Given the description of an element on the screen output the (x, y) to click on. 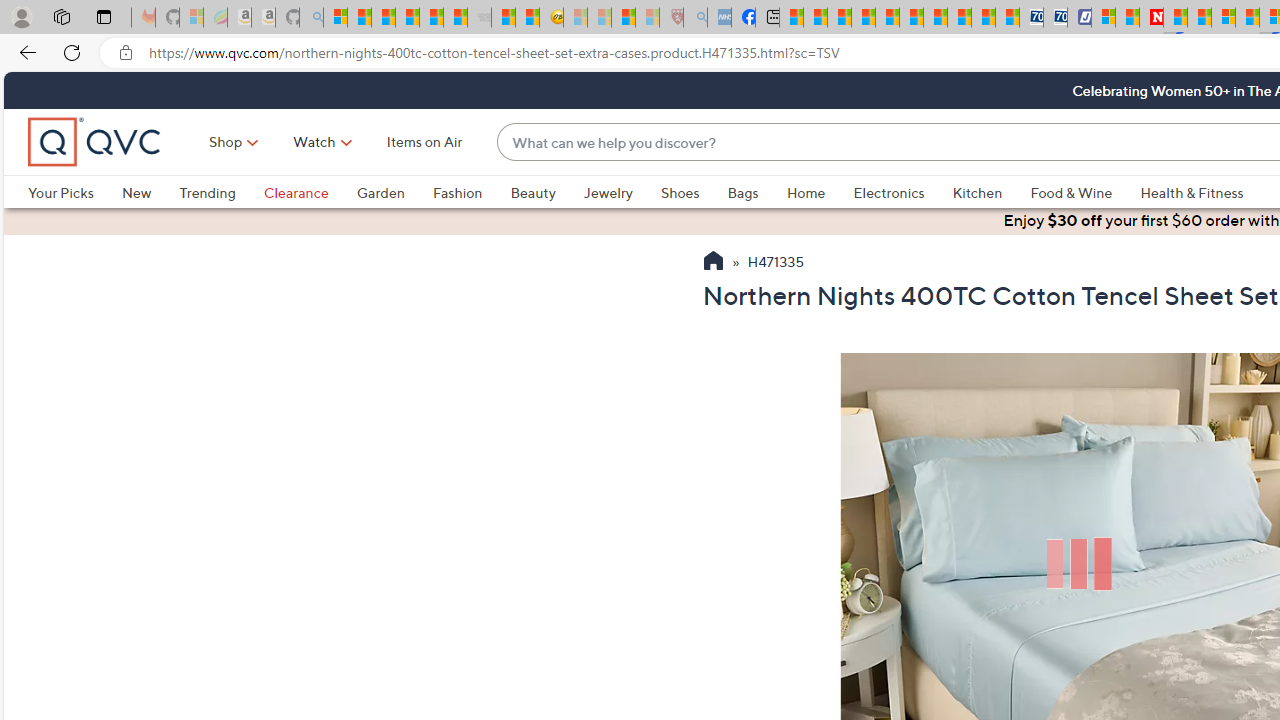
Your Picks (60, 192)
Garden (393, 192)
Return to QVC Homepage (712, 263)
The Weather Channel - MSN (383, 17)
Fashion (457, 192)
